Given the description of an element on the screen output the (x, y) to click on. 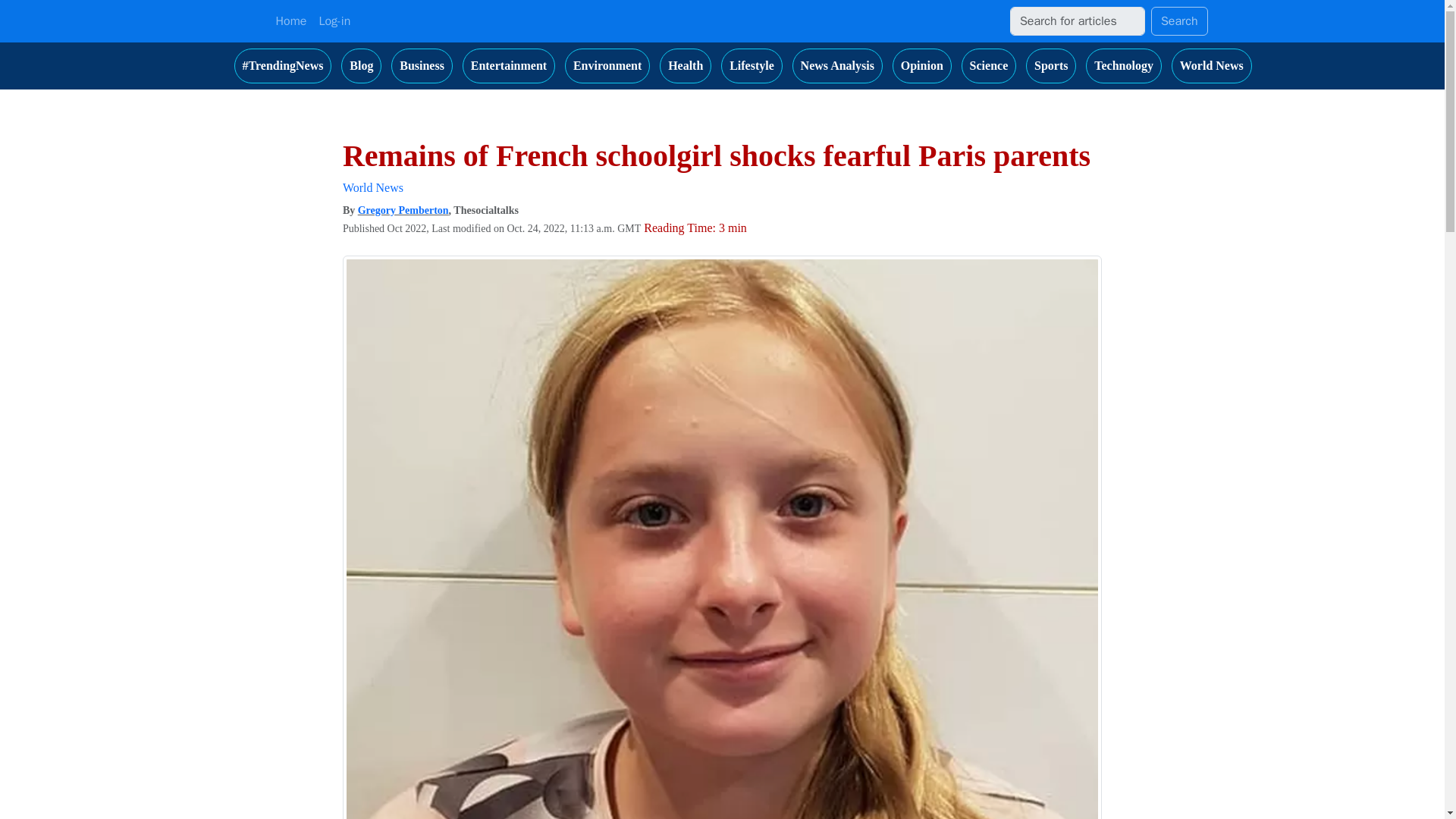
Log-in (334, 20)
World News (372, 187)
World News (1212, 65)
Environment (606, 65)
Health (685, 65)
Science (988, 65)
Technology (1123, 65)
Blog (360, 65)
Opinion (922, 65)
Gregory Pemberton (403, 210)
Business (421, 65)
News Analysis (837, 65)
Lifestyle (751, 65)
Entertainment (508, 65)
Sports (1050, 65)
